Given the description of an element on the screen output the (x, y) to click on. 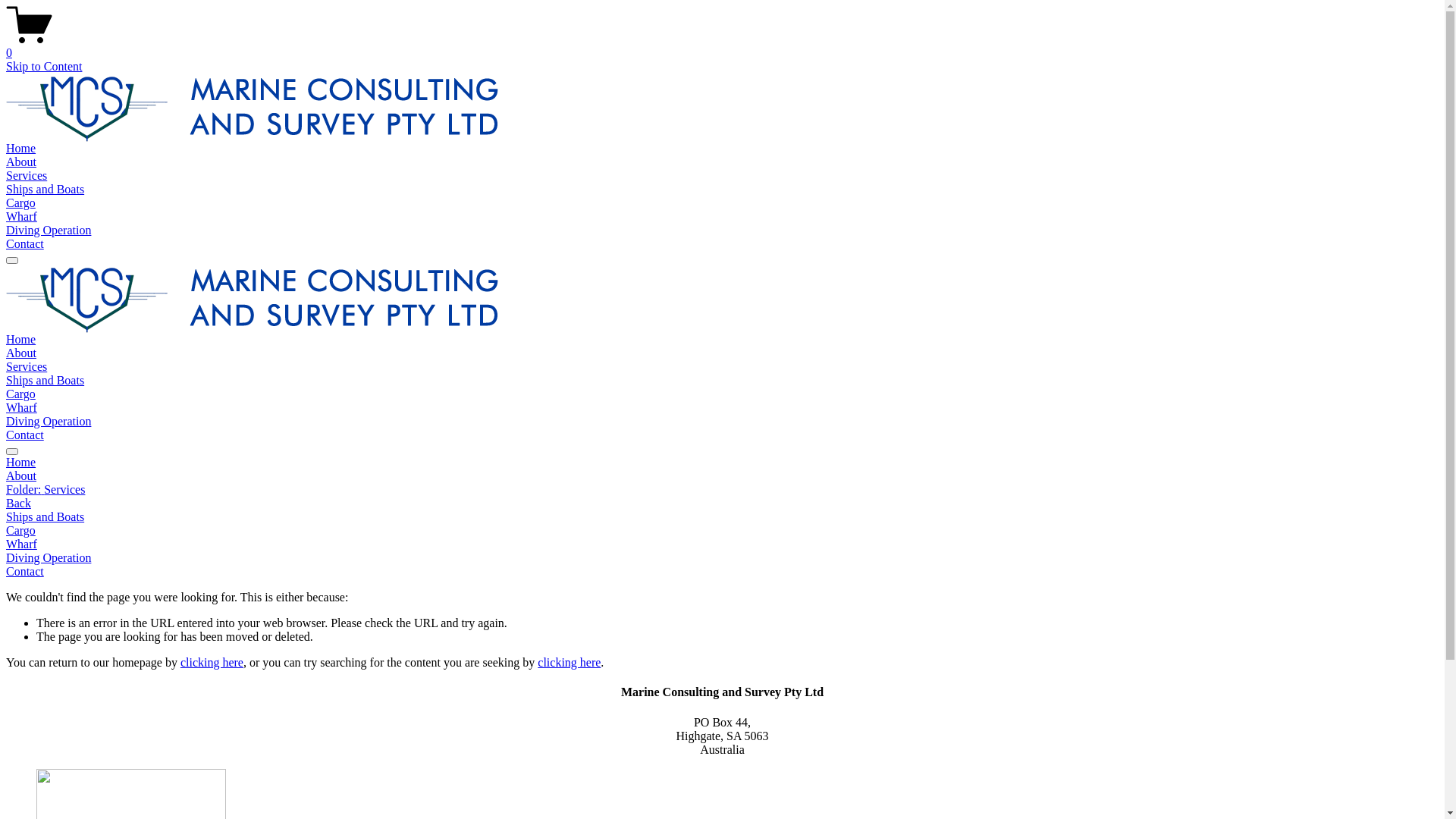
Cargo Element type: text (20, 393)
clicking here Element type: text (211, 661)
About Element type: text (21, 352)
Folder: Services Element type: text (722, 489)
clicking here Element type: text (568, 661)
Services Element type: text (26, 175)
Skip to Content Element type: text (43, 65)
Diving Operation Element type: text (48, 229)
Home Element type: text (20, 338)
Contact Element type: text (24, 434)
About Element type: text (722, 476)
Home Element type: text (20, 147)
Diving Operation Element type: text (722, 557)
Back Element type: text (18, 502)
Services Element type: text (26, 366)
Cargo Element type: text (722, 530)
Diving Operation Element type: text (48, 420)
Ships and Boats Element type: text (45, 379)
About Element type: text (21, 161)
Home Element type: text (722, 462)
0 Element type: text (722, 45)
Cargo Element type: text (20, 202)
Wharf Element type: text (21, 407)
Wharf Element type: text (21, 216)
Ships and Boats Element type: text (722, 517)
Ships and Boats Element type: text (45, 188)
Wharf Element type: text (722, 544)
Contact Element type: text (722, 571)
Contact Element type: text (24, 243)
